Given the description of an element on the screen output the (x, y) to click on. 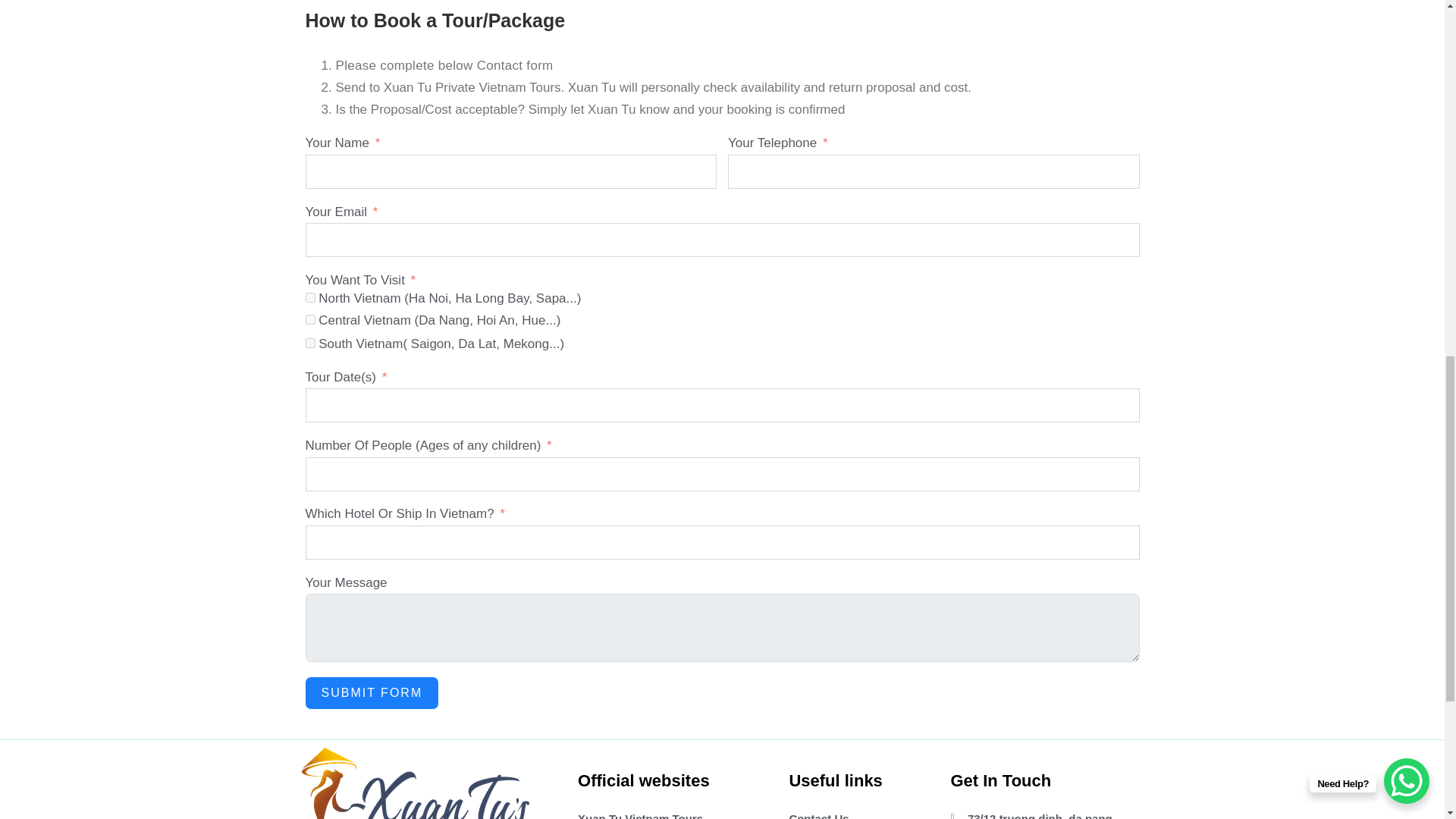
SUBMIT FORM (371, 693)
Xuan Tu Vietnam Tours (671, 813)
Contact Us (858, 813)
